Given the description of an element on the screen output the (x, y) to click on. 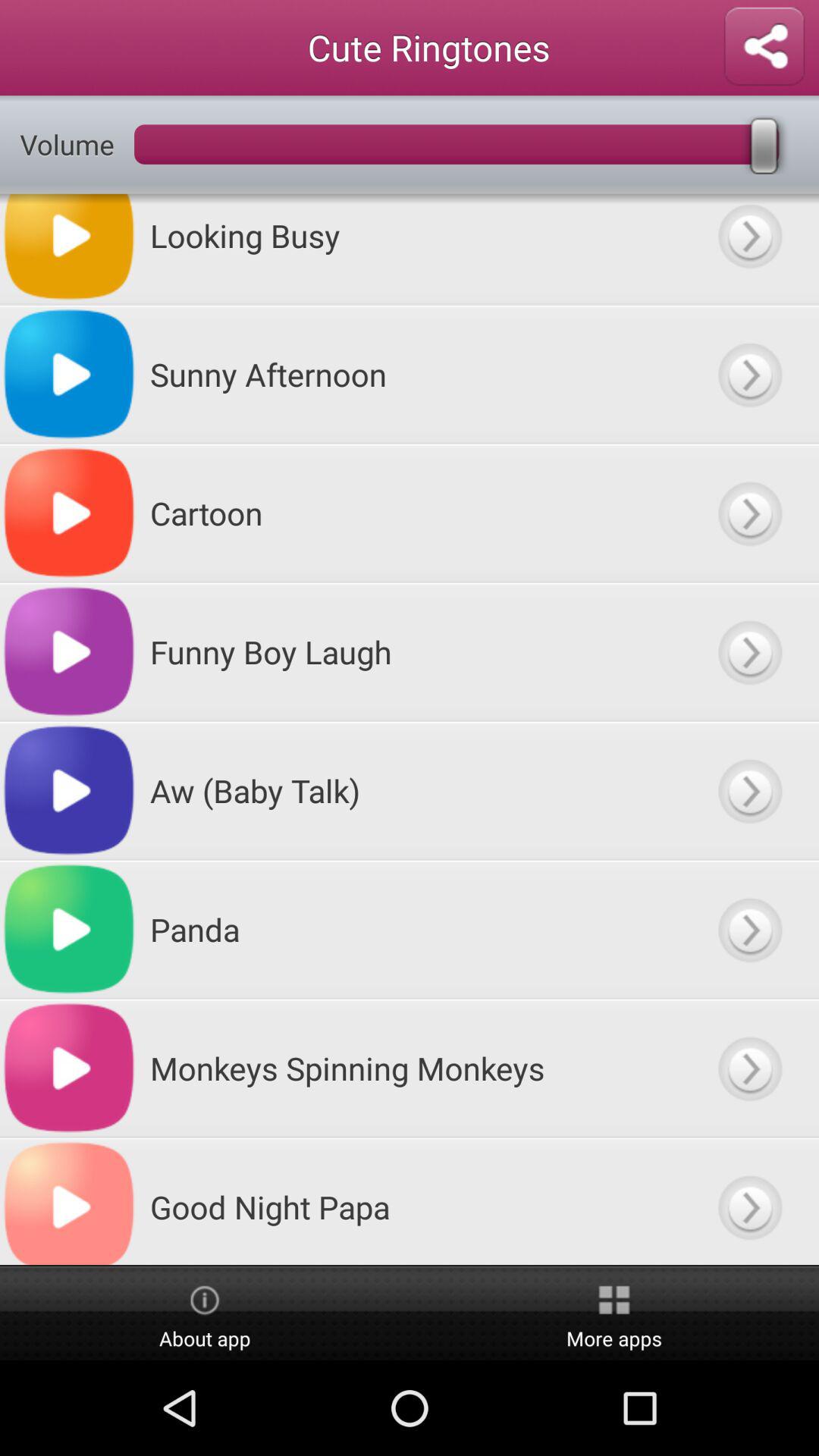
go to next (749, 1068)
